Given the description of an element on the screen output the (x, y) to click on. 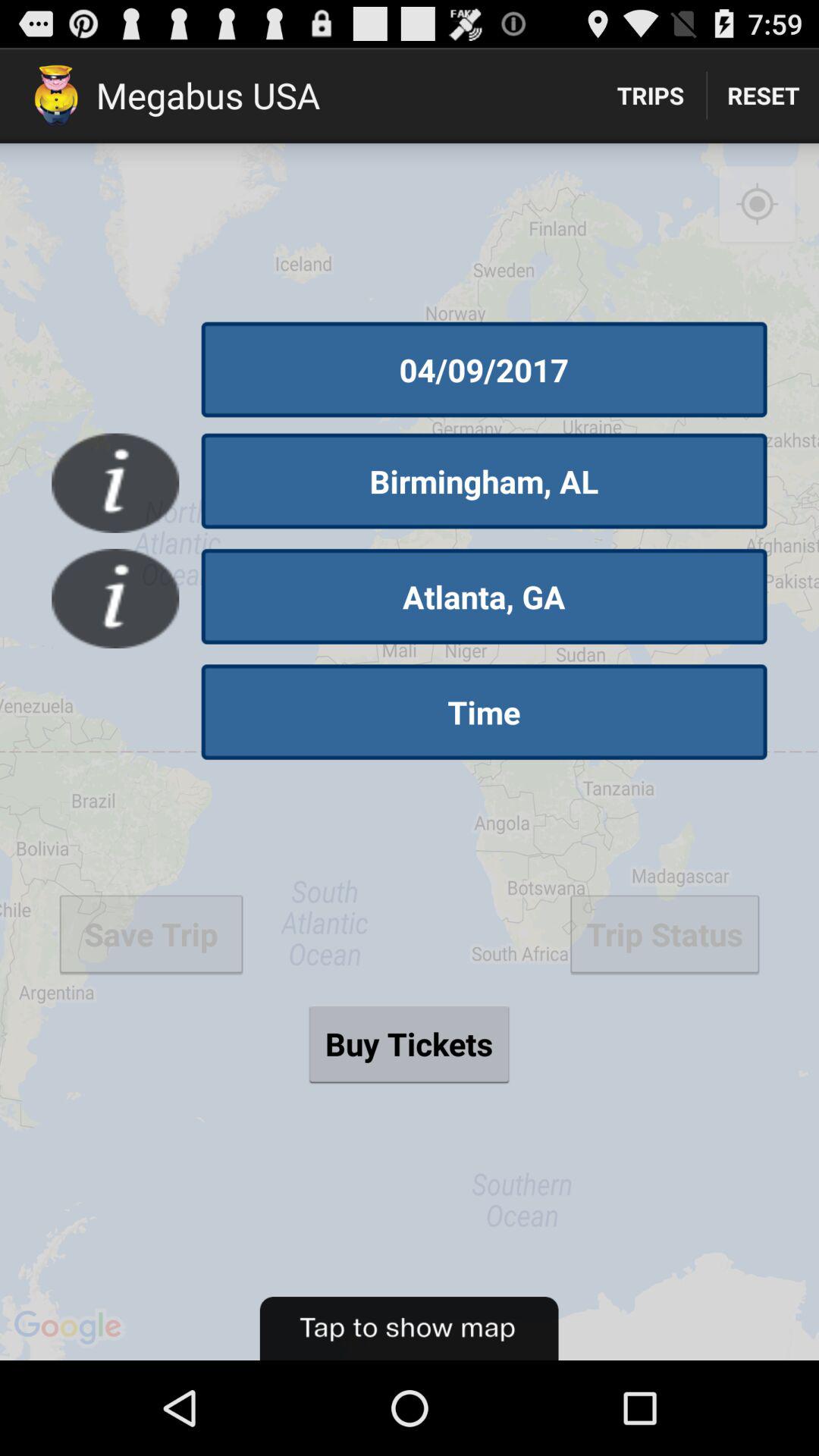
open the item below buy tickets (408, 1328)
